Given the description of an element on the screen output the (x, y) to click on. 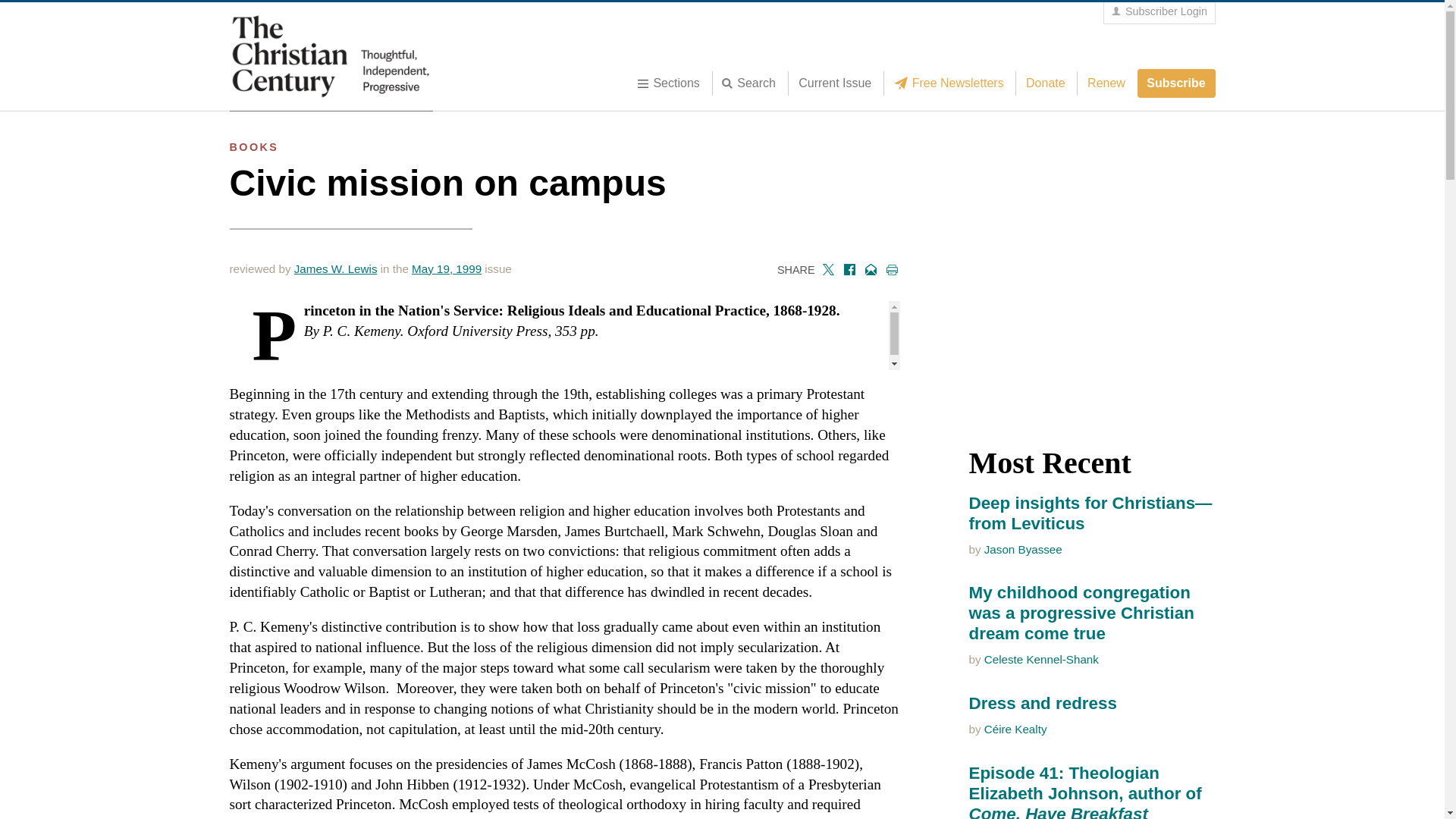
Free Newsletters (952, 83)
Subscriber Login (1159, 11)
Current Issue (834, 83)
Back to homepage (330, 56)
Renew (1105, 83)
title (753, 83)
Subscribe (1176, 82)
Donate (1045, 83)
